Given the description of an element on the screen output the (x, y) to click on. 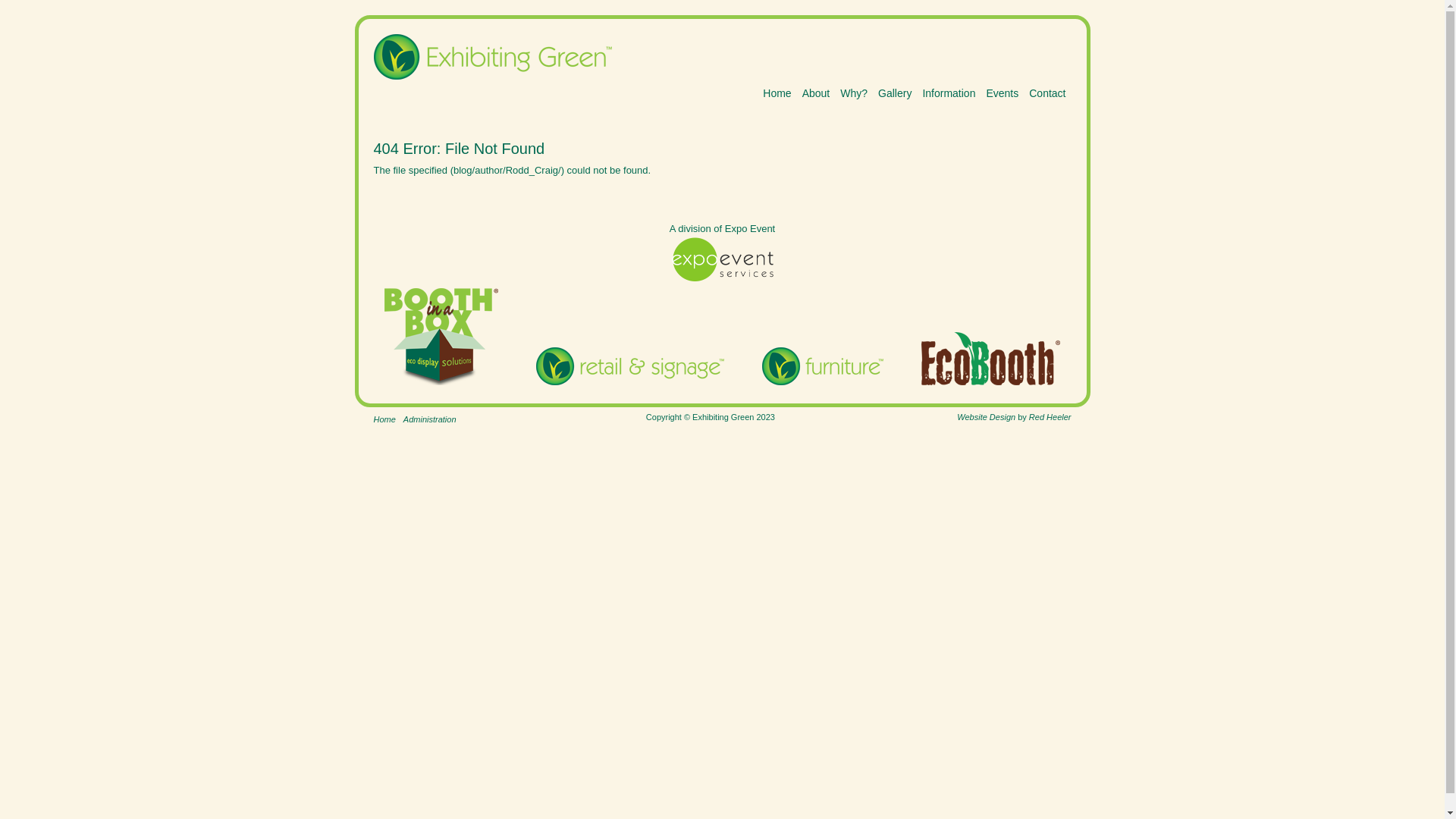
Administration Element type: text (429, 419)
Home Element type: text (384, 419)
Red Heeler Element type: text (1050, 416)
About Element type: text (816, 93)
Home Element type: text (776, 93)
Contact Element type: text (1047, 93)
Why? Element type: text (853, 93)
Website Design Element type: text (986, 416)
Gallery Element type: text (894, 93)
